Given the description of an element on the screen output the (x, y) to click on. 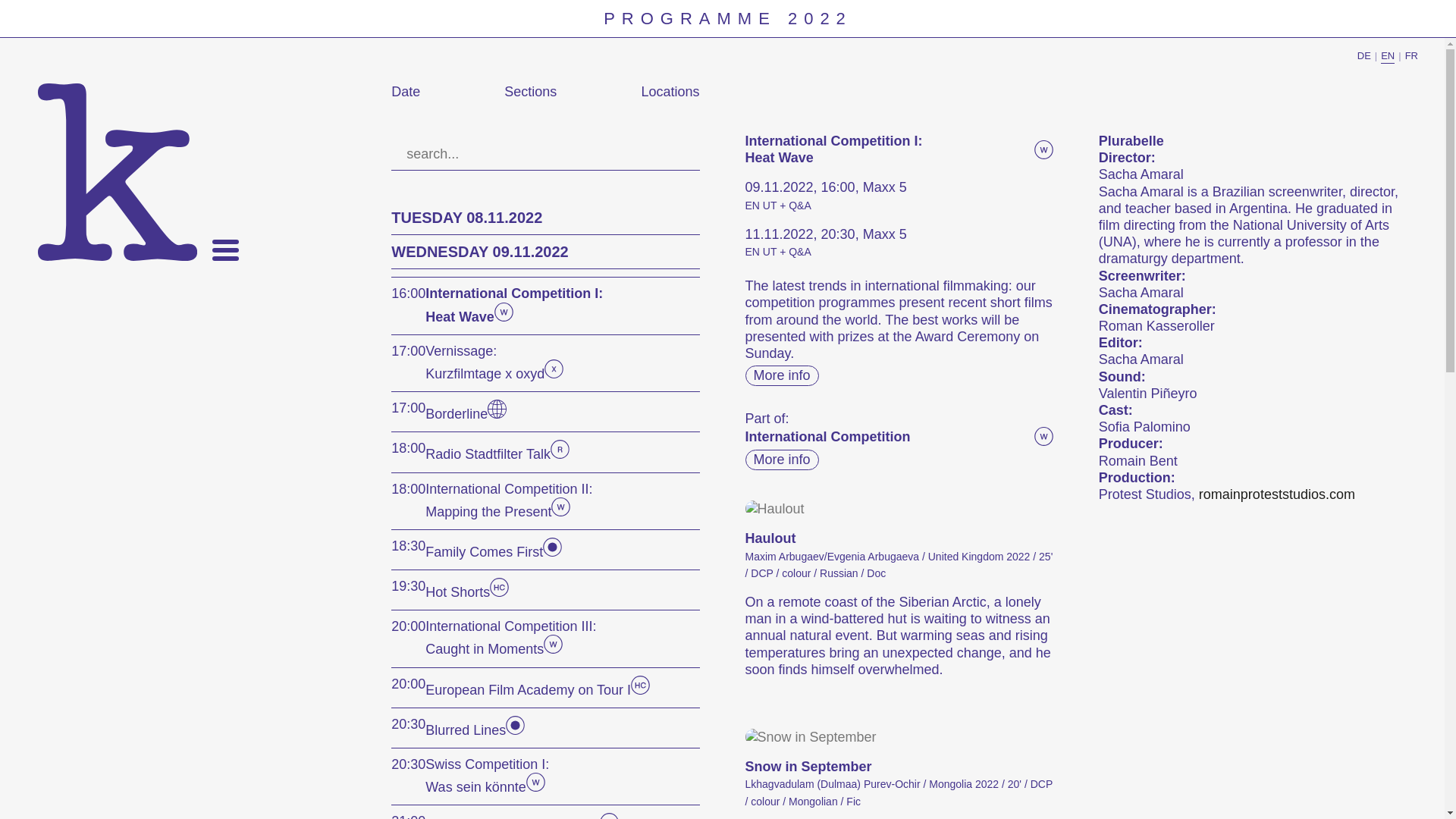
Swiss Competition (534, 786)
Hors Concours (498, 591)
Internationale Kurzfilmtage Winterthur (116, 172)
Main Focus: Los Estados Andinos (552, 551)
Expanded Cinema (553, 373)
Main Focus: Los Estados Andinos (514, 729)
International Competition (552, 648)
Internationale Kurzfilmtage Winterthur (116, 172)
Hors Concours (639, 689)
International Competition (504, 316)
Country in Focus: Israel (496, 413)
International Competition (560, 511)
